Given the description of an element on the screen output the (x, y) to click on. 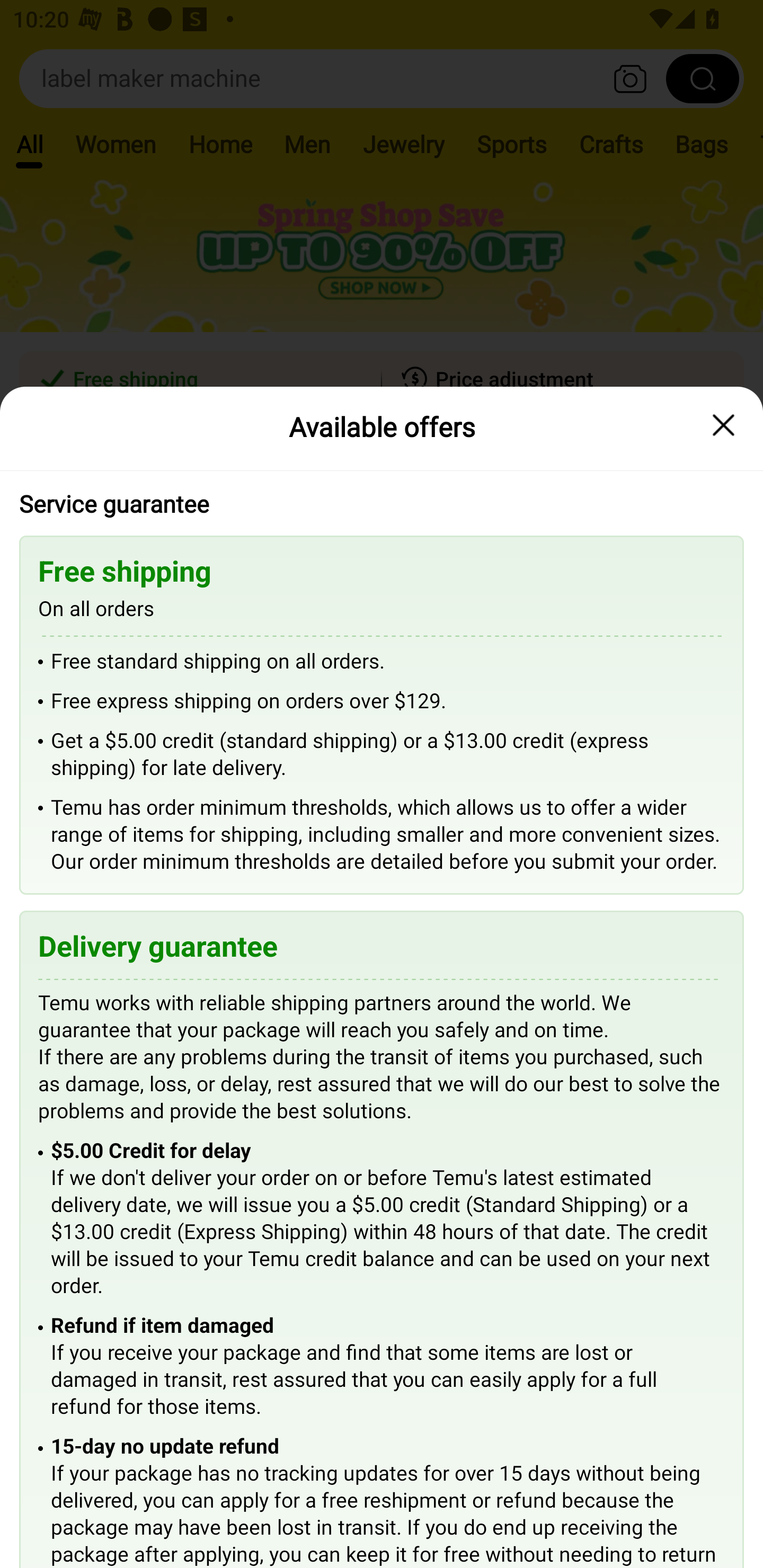
Lightning deals (379, 524)
